Given the description of an element on the screen output the (x, y) to click on. 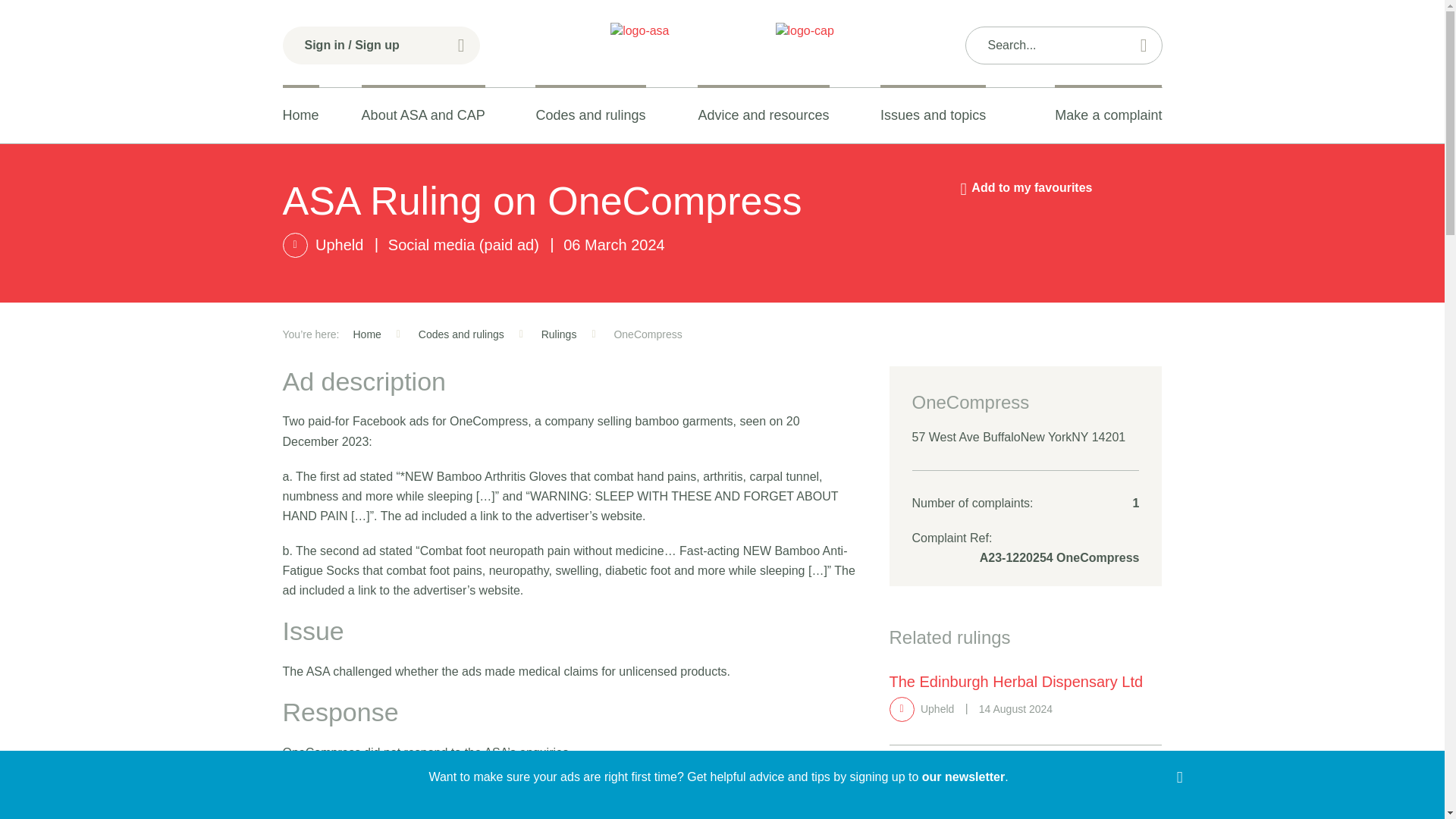
Codes and rulings (590, 115)
About ASA and CAP (422, 115)
Issues and topics (932, 115)
Advice and resources (762, 115)
